Given the description of an element on the screen output the (x, y) to click on. 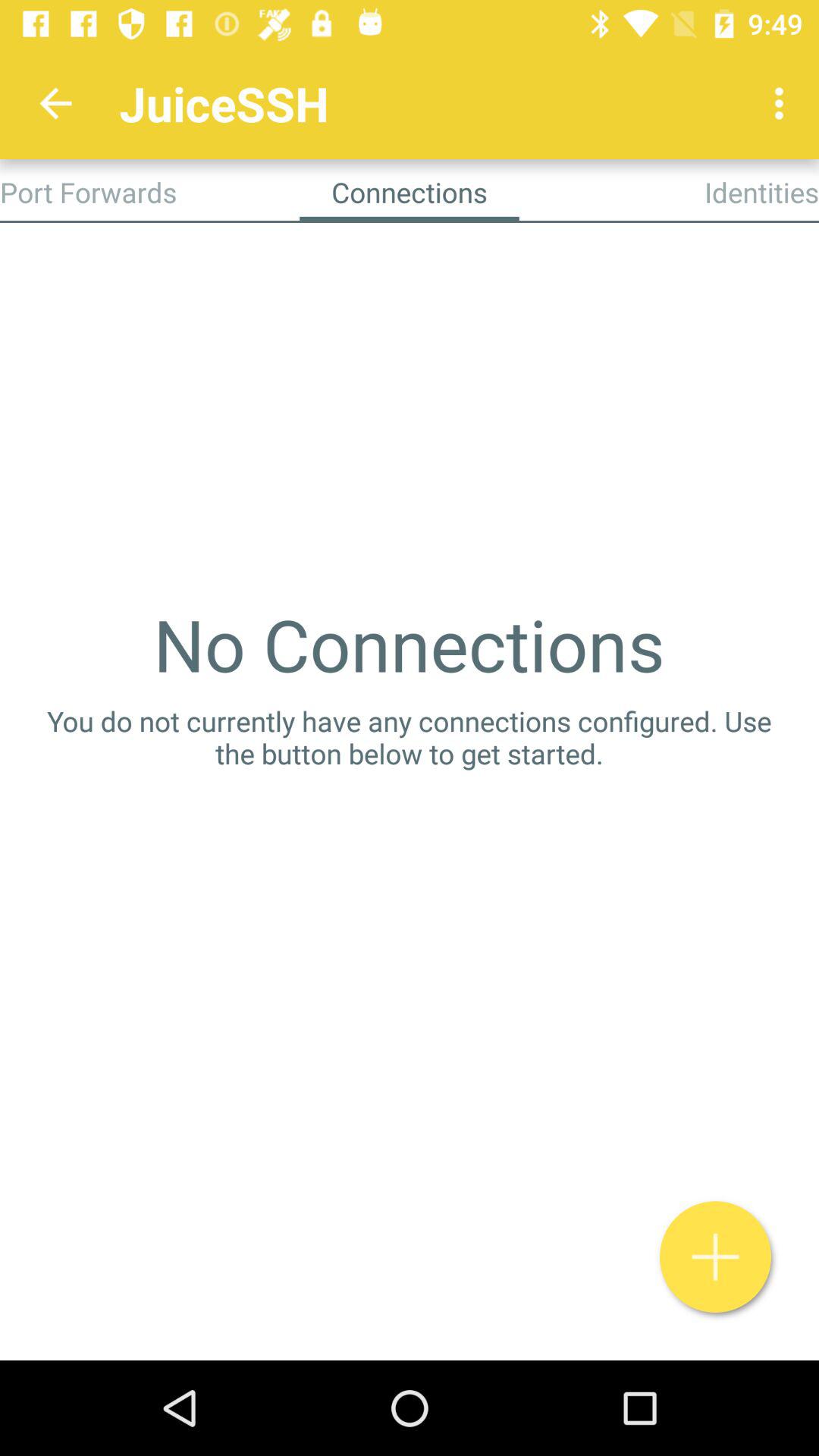
open the you do not icon (409, 737)
